Given the description of an element on the screen output the (x, y) to click on. 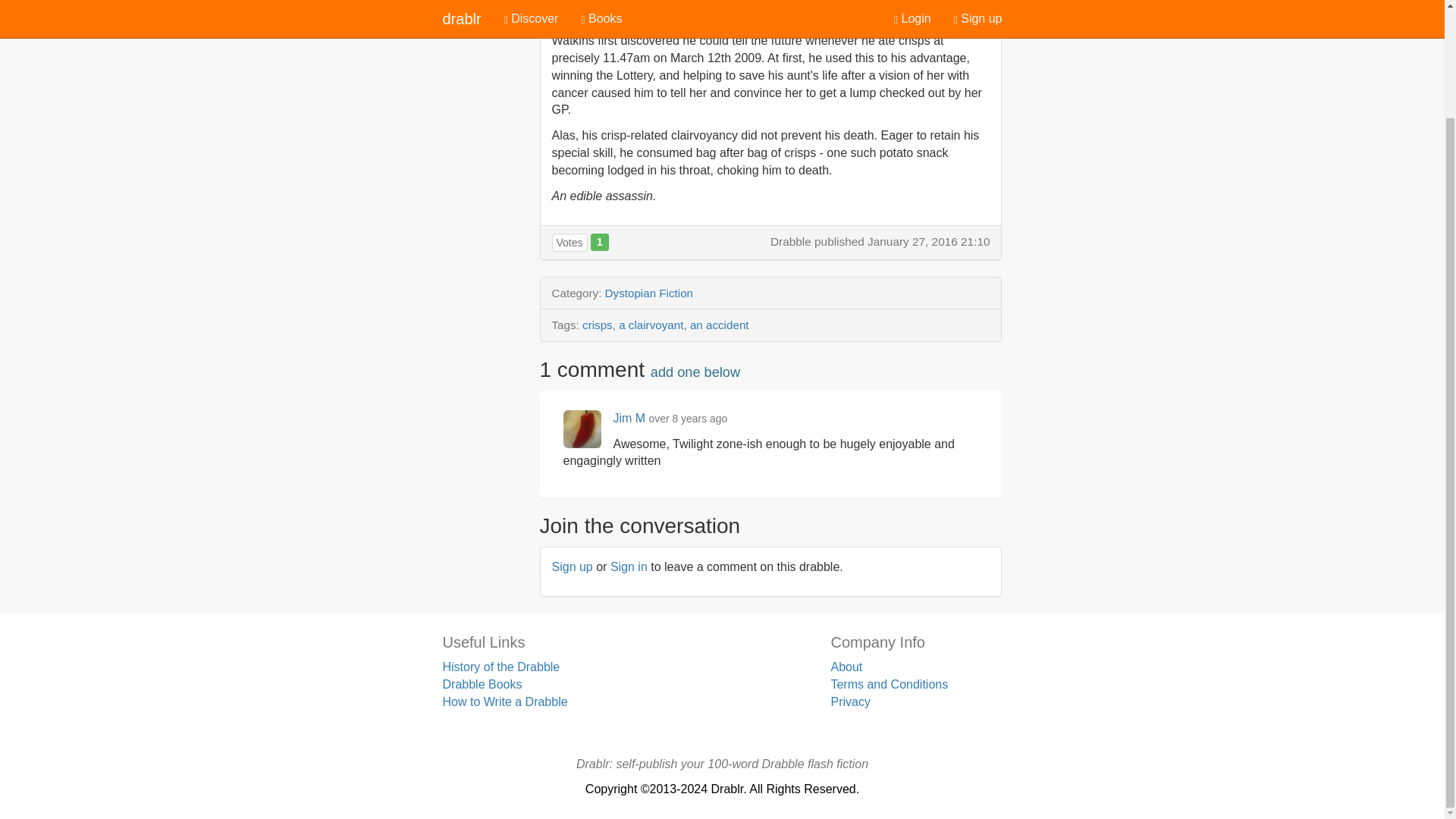
a clairvoyant (650, 324)
add one below (694, 372)
Sign up (571, 566)
Peter Muscutt (609, 14)
an accident (719, 324)
Privacy (849, 701)
Votes (569, 242)
crisps (597, 324)
Dystopian Fiction (649, 292)
How to Write a Drabble (504, 701)
